Given the description of an element on the screen output the (x, y) to click on. 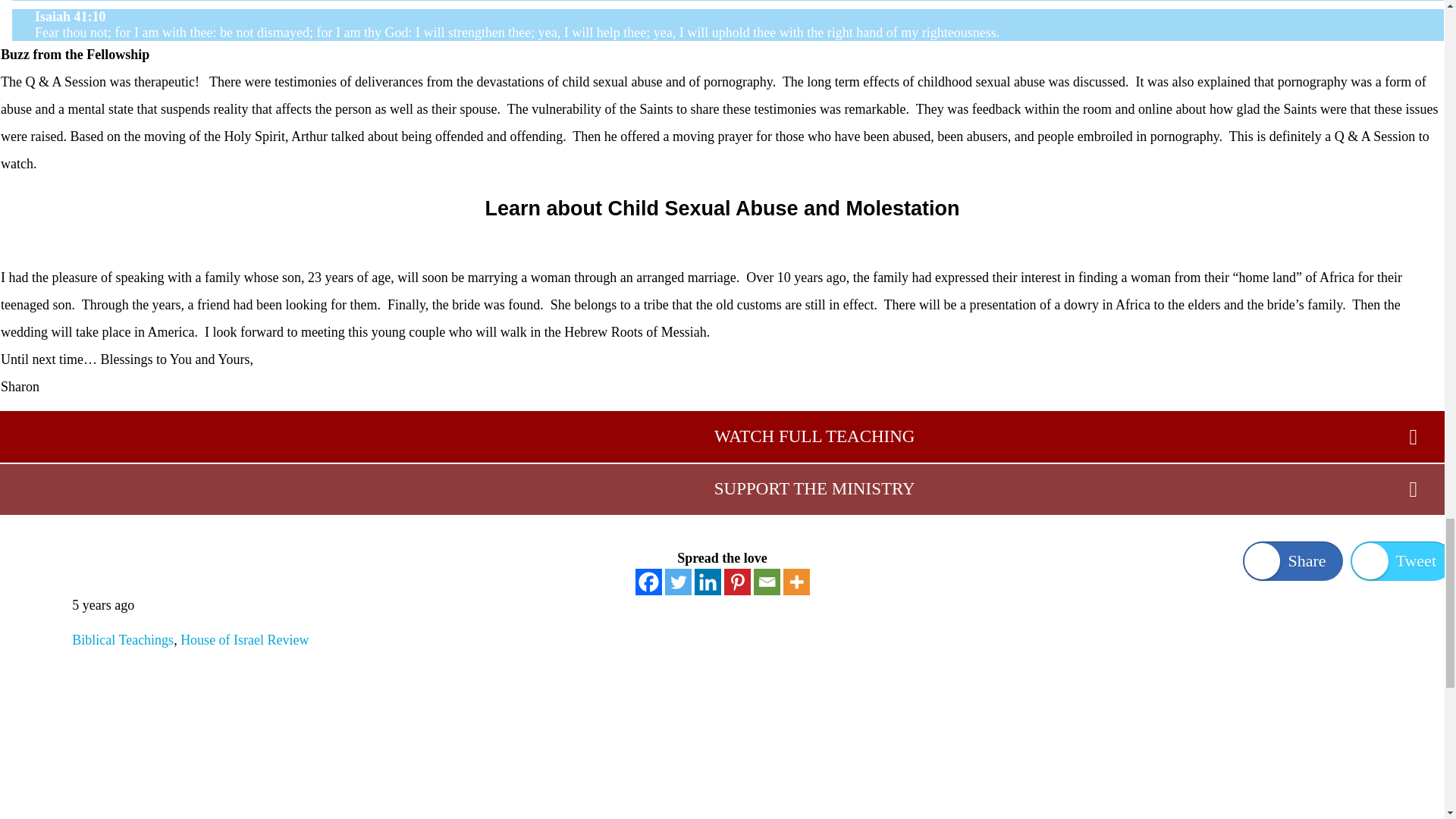
Linkedin (707, 581)
Twitter (676, 581)
Pinterest (736, 581)
Email (767, 581)
Facebook (648, 581)
More (796, 581)
